Given the description of an element on the screen output the (x, y) to click on. 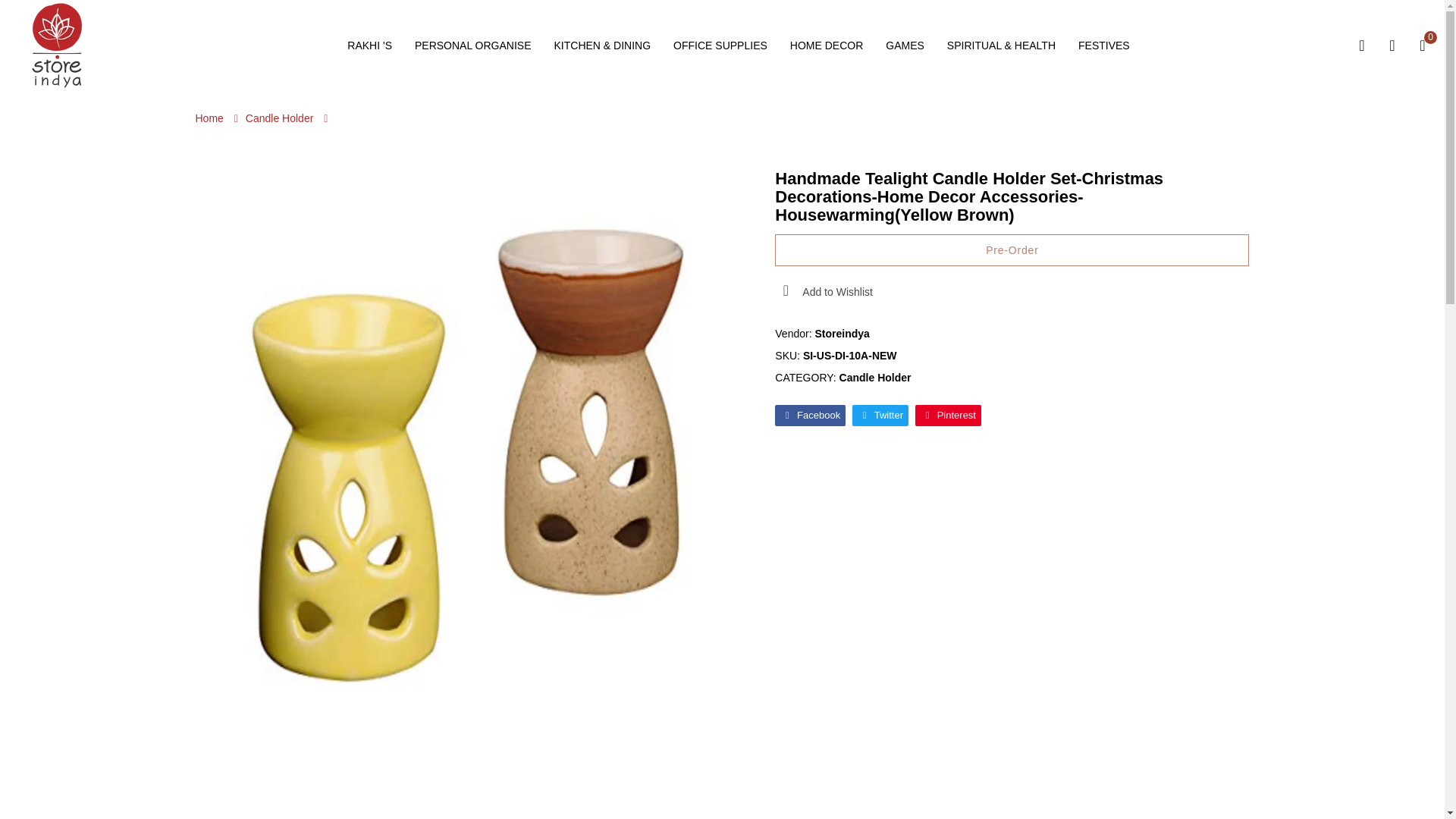
Pinterest (948, 414)
HOME DECOR (826, 45)
My Bag (1422, 45)
RAKHI 'S (369, 45)
PERSONAL ORGANISE (472, 45)
Twitter (879, 414)
OFFICE SUPPLIES (719, 45)
GAMES (904, 45)
StoreIndya (56, 44)
FESTIVES (1103, 45)
